Given the description of an element on the screen output the (x, y) to click on. 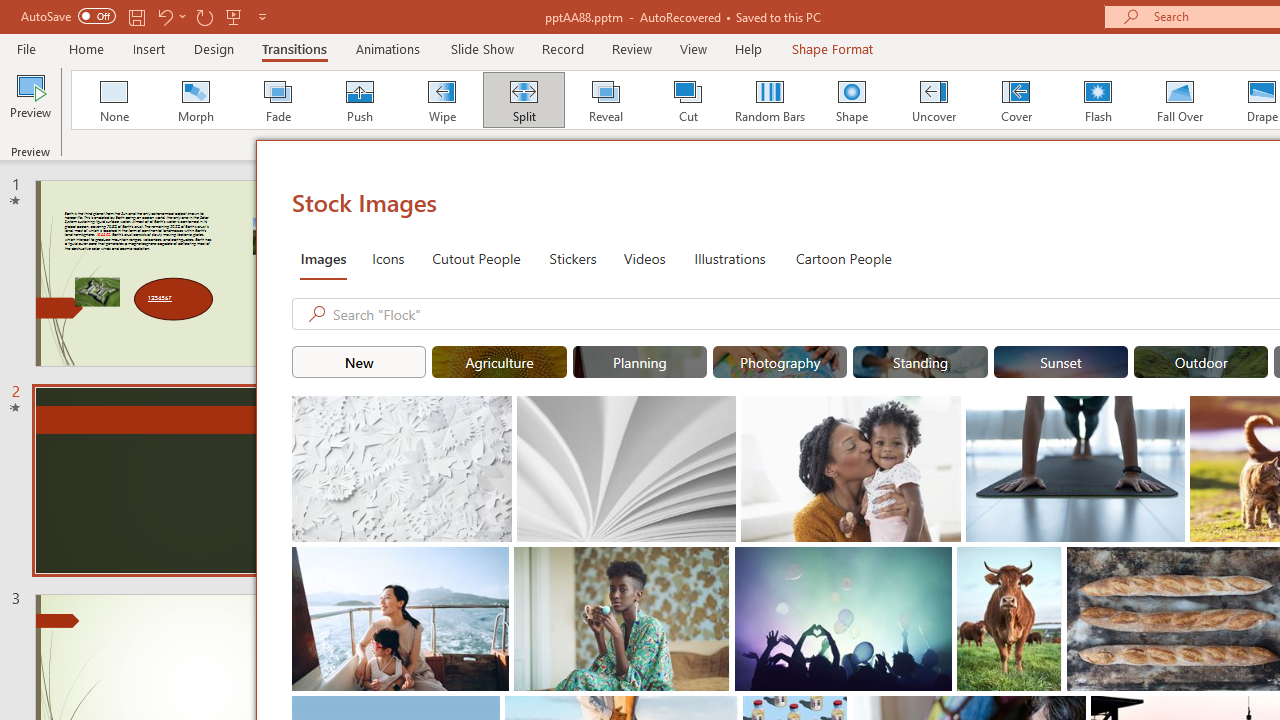
"Agriculture" Stock Images. (499, 362)
"Outdoor" Stock Images. (1201, 362)
Icons (388, 258)
Review (631, 48)
Redo (204, 15)
Fade (277, 100)
Images (322, 258)
"Standing" Stock Images. (920, 362)
Insert (149, 48)
Preview (30, 102)
Cut (687, 100)
Undo (164, 15)
